Given the description of an element on the screen output the (x, y) to click on. 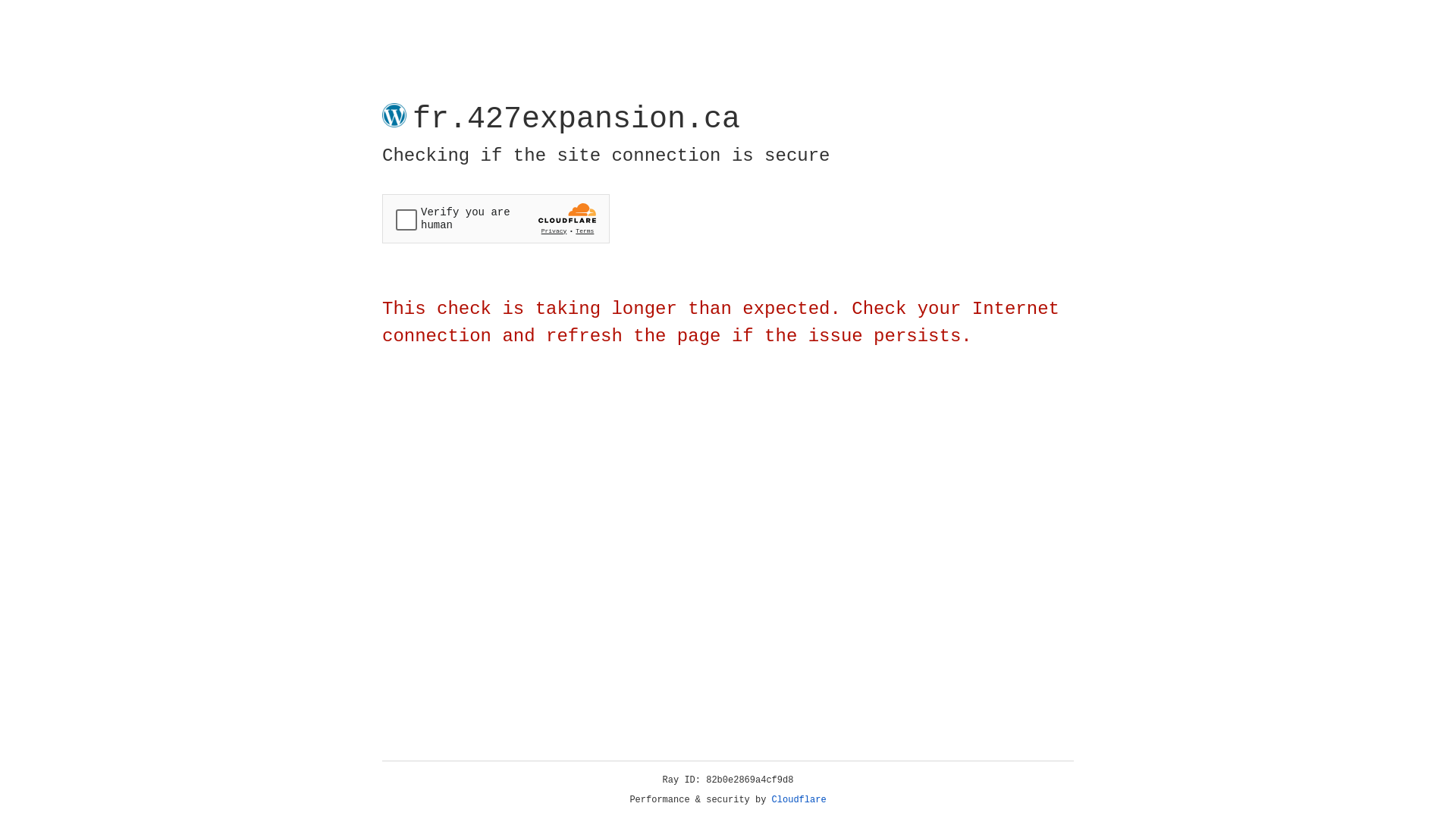
Widget containing a Cloudflare security challenge Element type: hover (495, 218)
Cloudflare Element type: text (798, 799)
